Given the description of an element on the screen output the (x, y) to click on. 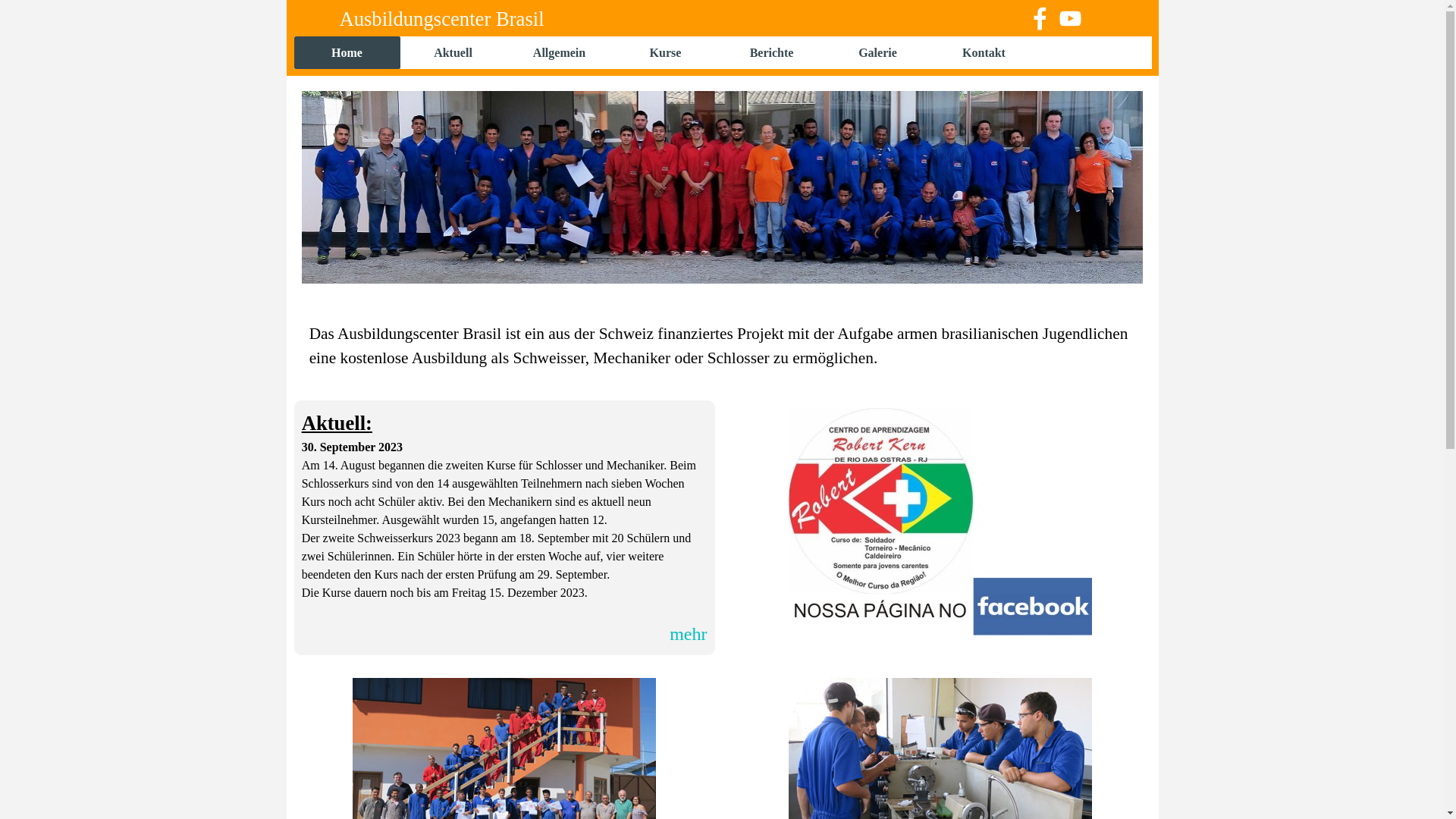
Home Element type: text (346, 52)
mehr Element type: text (687, 633)
Allgemein Element type: text (559, 52)
Berichte Element type: text (771, 52)
Kontakt Element type: text (983, 52)
Galerie Element type: text (877, 52)
Aktuell Element type: text (453, 52)
